Given the description of an element on the screen output the (x, y) to click on. 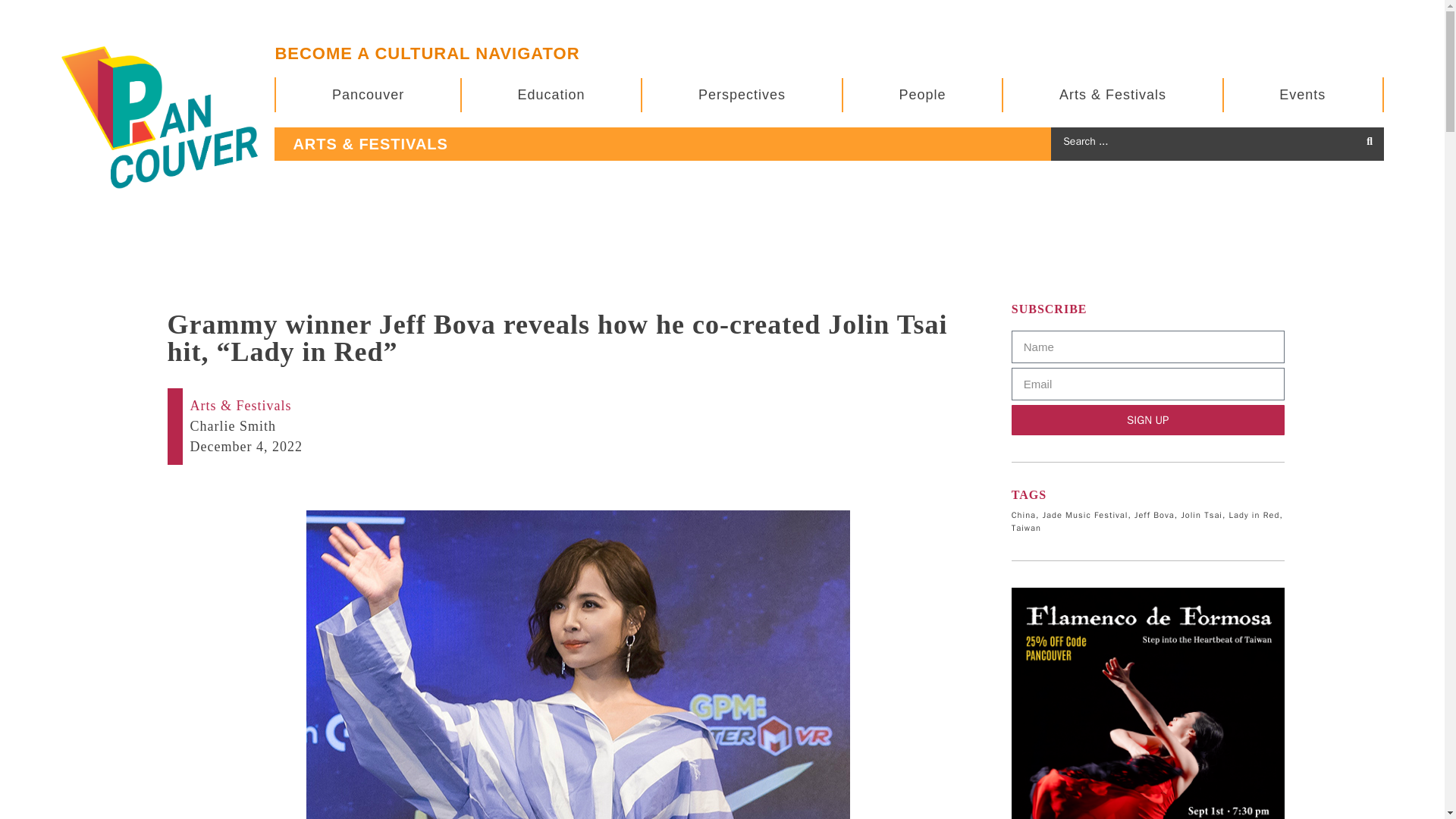
Perspectives (741, 94)
SIGN UP (1147, 419)
Education (550, 94)
December 4, 2022 (245, 446)
Pancouver (367, 94)
Events (1302, 94)
Jeff Bova (1154, 514)
Taiwan (1026, 527)
Jade Music Festival (1085, 514)
Jolin Tsai (1201, 514)
